Given the description of an element on the screen output the (x, y) to click on. 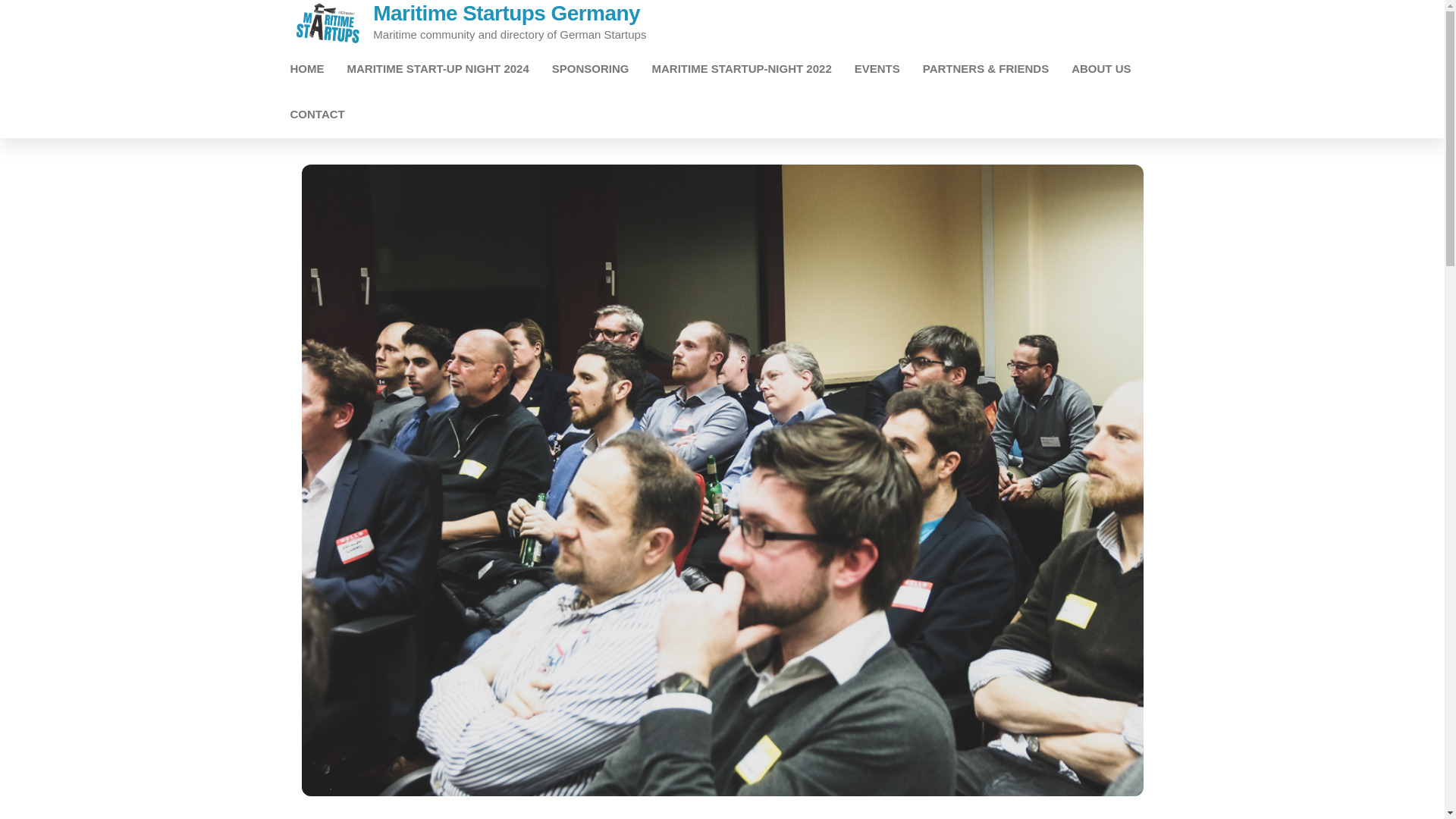
Events (877, 68)
Sponsoring (590, 68)
Maritime Startups Germany (506, 13)
Maritime Start-up Night 2024 (437, 68)
Maritime Startup-Night 2022 (741, 68)
HOME (307, 68)
ABOUT US (1100, 68)
Contact (317, 114)
MARITIME START-UP NIGHT 2024 (437, 68)
About us (1100, 68)
Home (307, 68)
MARITIME STARTUP-NIGHT 2022 (741, 68)
EVENTS (877, 68)
SPONSORING (590, 68)
CONTACT (317, 114)
